Given the description of an element on the screen output the (x, y) to click on. 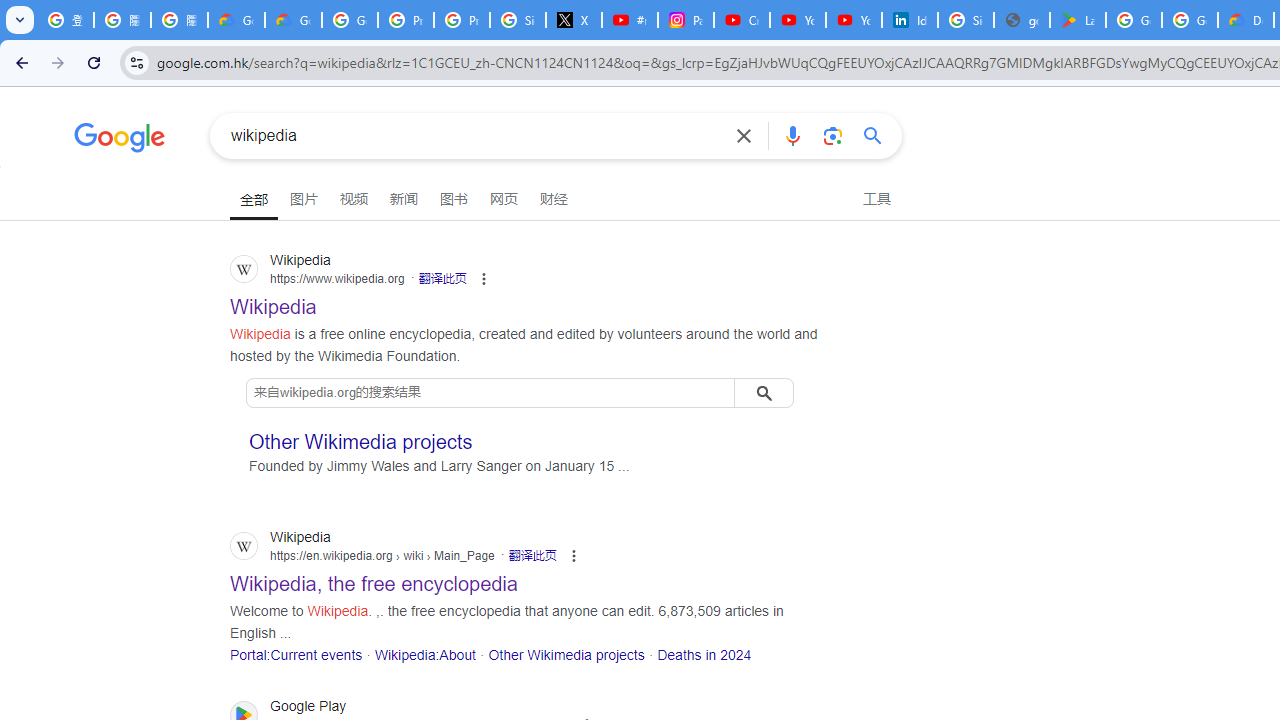
Privacy Help Center - Policies Help (405, 20)
Google (120, 139)
#nbabasketballhighlights - YouTube (629, 20)
